Given the description of an element on the screen output the (x, y) to click on. 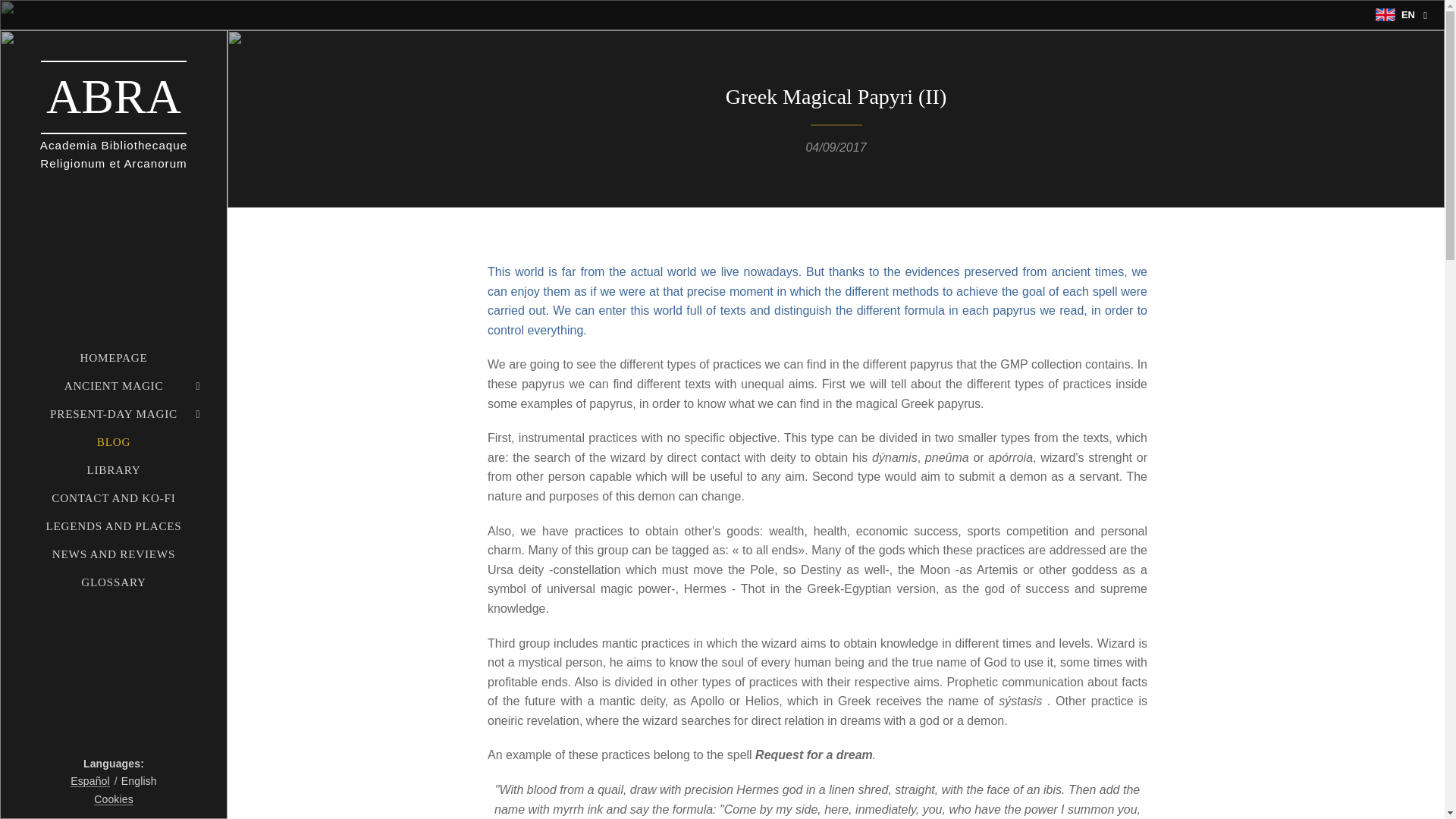
PRESENT-DAY MAGIC (113, 413)
LIBRARY (113, 469)
ABRA (114, 97)
NEWS AND REVIEWS (113, 553)
LEGENDS AND PLACES (113, 525)
CONTACT AND KO-FI (113, 497)
GLOSSARY (113, 581)
HOMEPAGE (113, 357)
Cookies (113, 799)
ANCIENT MAGIC (113, 384)
